Given the description of an element on the screen output the (x, y) to click on. 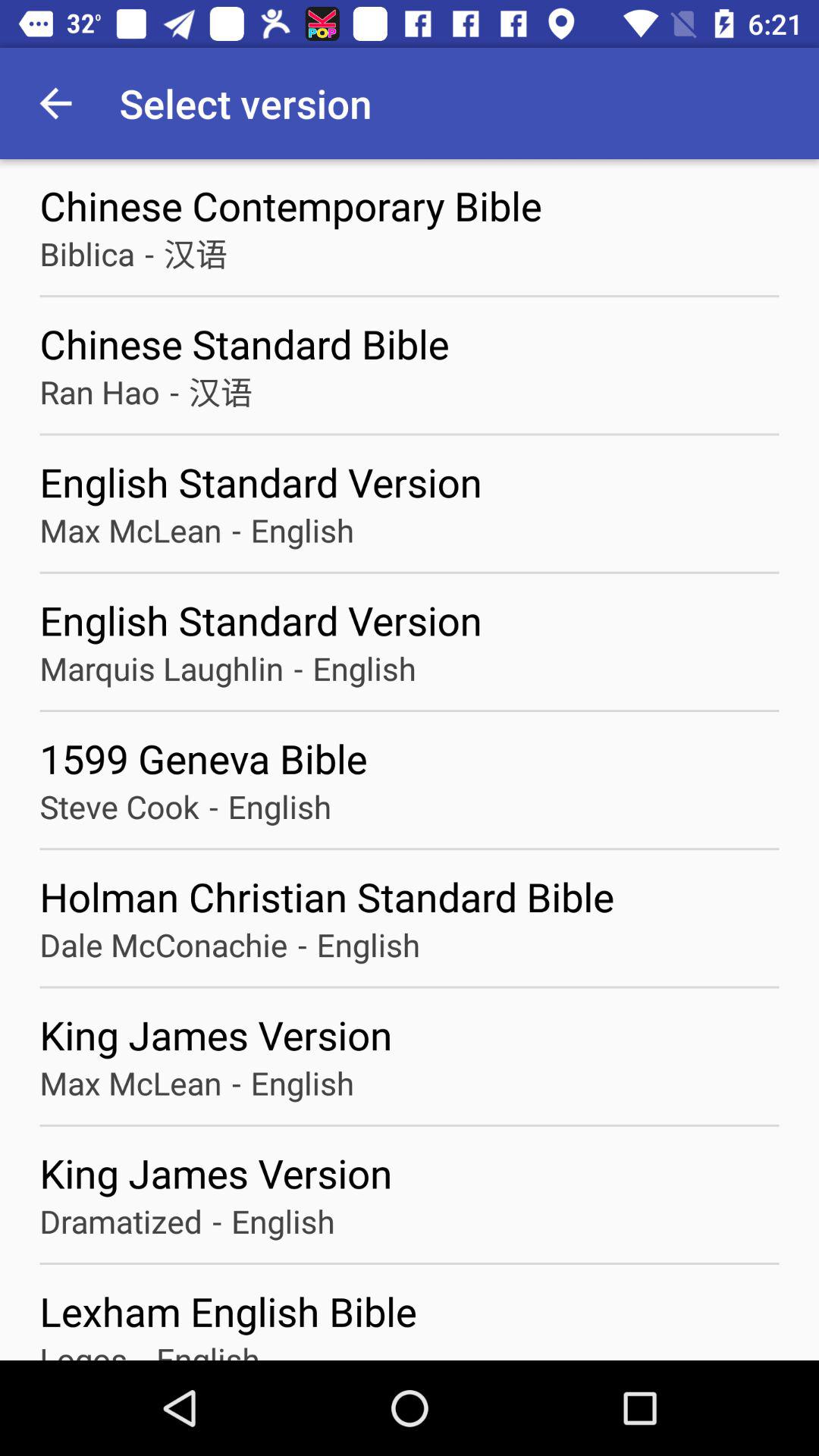
flip until - (298, 667)
